Given the description of an element on the screen output the (x, y) to click on. 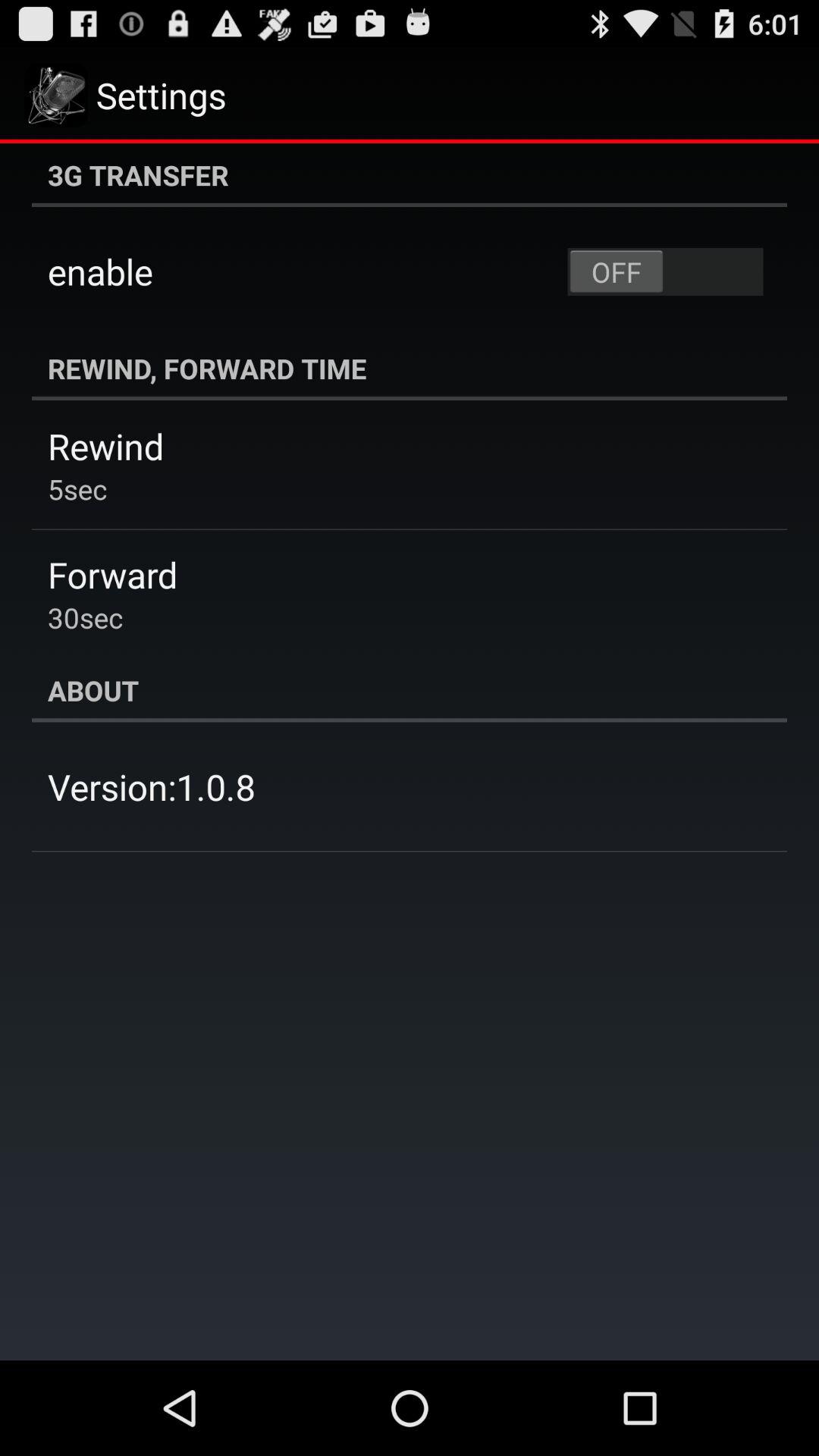
press the enable icon (99, 271)
